Given the description of an element on the screen output the (x, y) to click on. 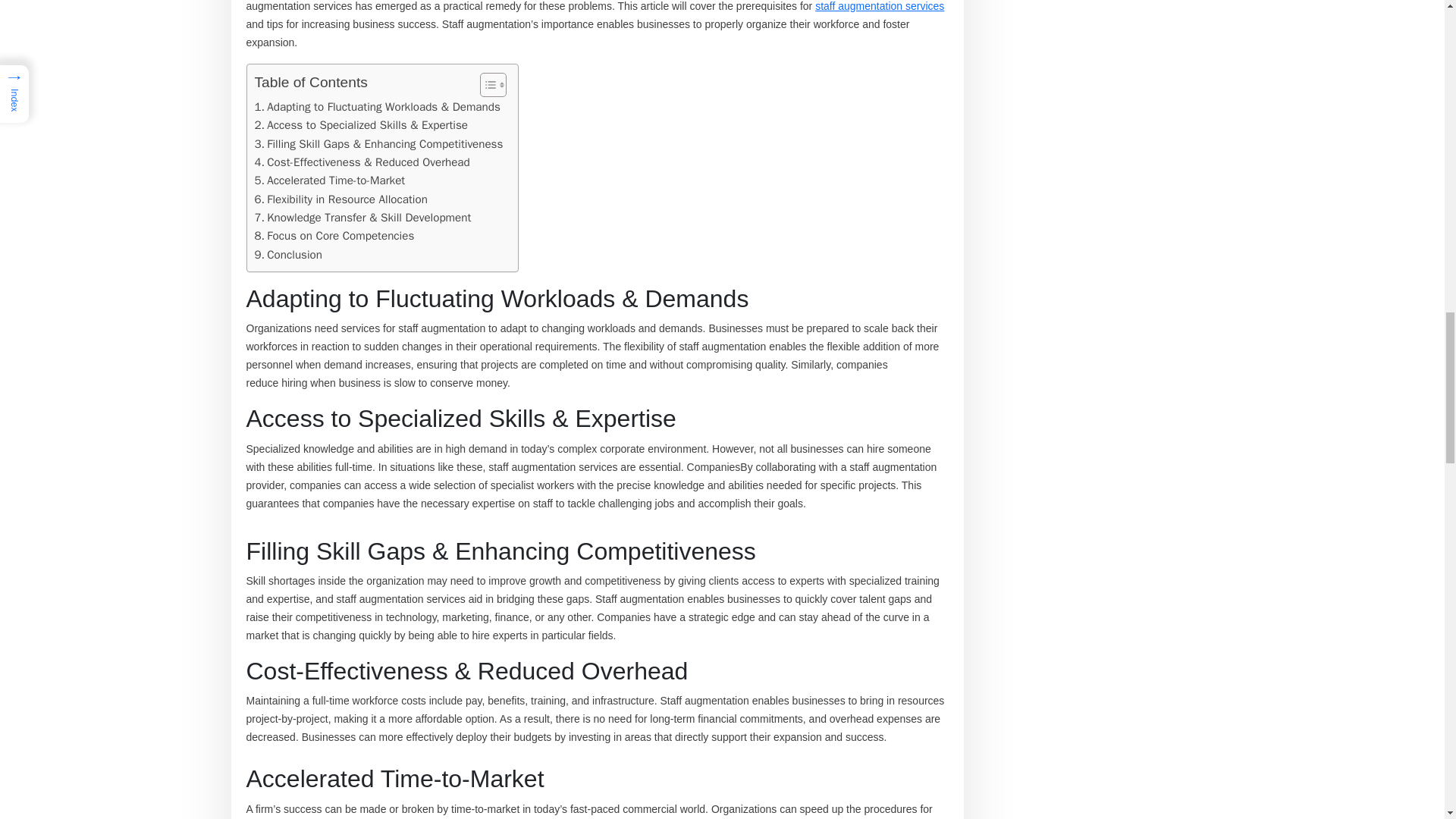
Flexibility in Resource Allocation (341, 199)
Focus on Core Competencies (334, 235)
Accelerated Time-to-Market (330, 180)
Conclusion (287, 254)
Focus on Core Competencies (334, 235)
Flexibility in Resource Allocation (341, 199)
staff augmentation services (879, 6)
Accelerated Time-to-Market (330, 180)
Conclusion (287, 254)
